Given the description of an element on the screen output the (x, y) to click on. 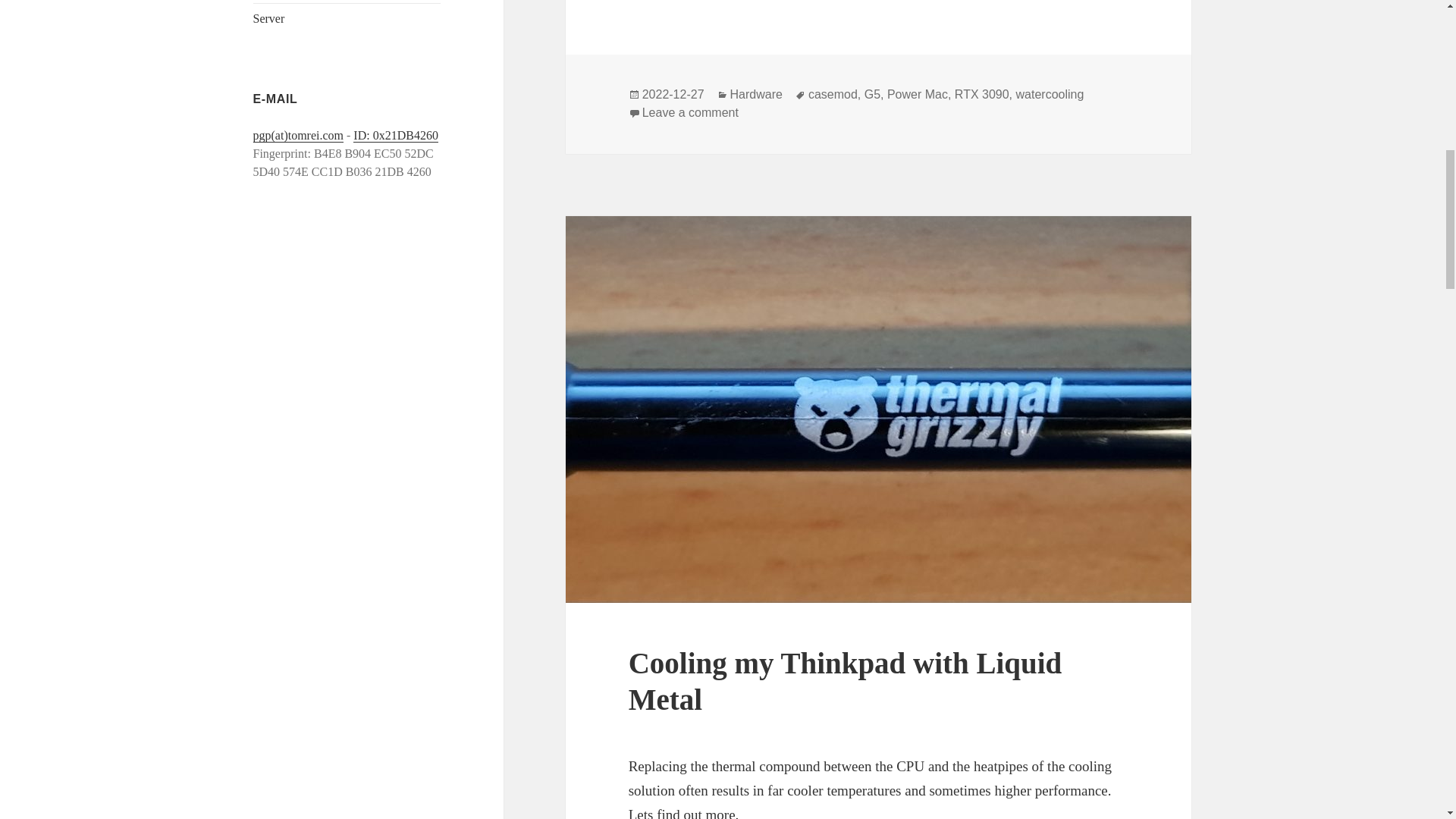
Power Mac (916, 94)
Cooling my Thinkpad with Liquid Metal (845, 681)
ID: 0x21DB4260 (395, 135)
Server (690, 112)
2022-12-27 (269, 18)
RTX 3090 (673, 94)
Hardware (982, 94)
casemod (756, 94)
watercooling (832, 94)
